Given the description of an element on the screen output the (x, y) to click on. 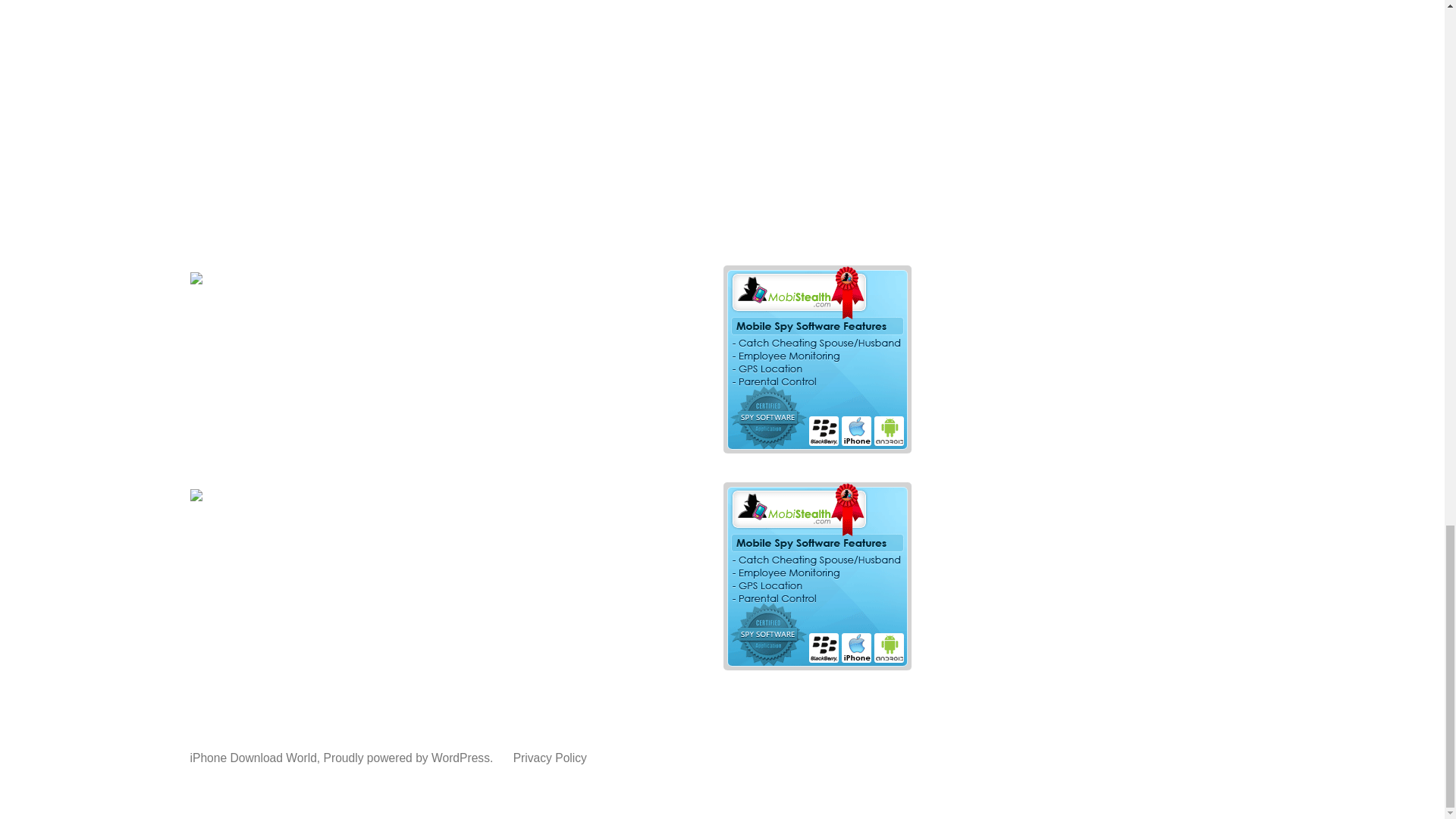
Buy MobiStealth Spy Software for Android Phone (816, 448)
Comment Form (542, 76)
iPhone Download World (252, 757)
Buy MobiStealth Spy Software for Android Phone (816, 665)
Proudly powered by WordPress. (409, 757)
Privacy Policy (549, 757)
